Given the description of an element on the screen output the (x, y) to click on. 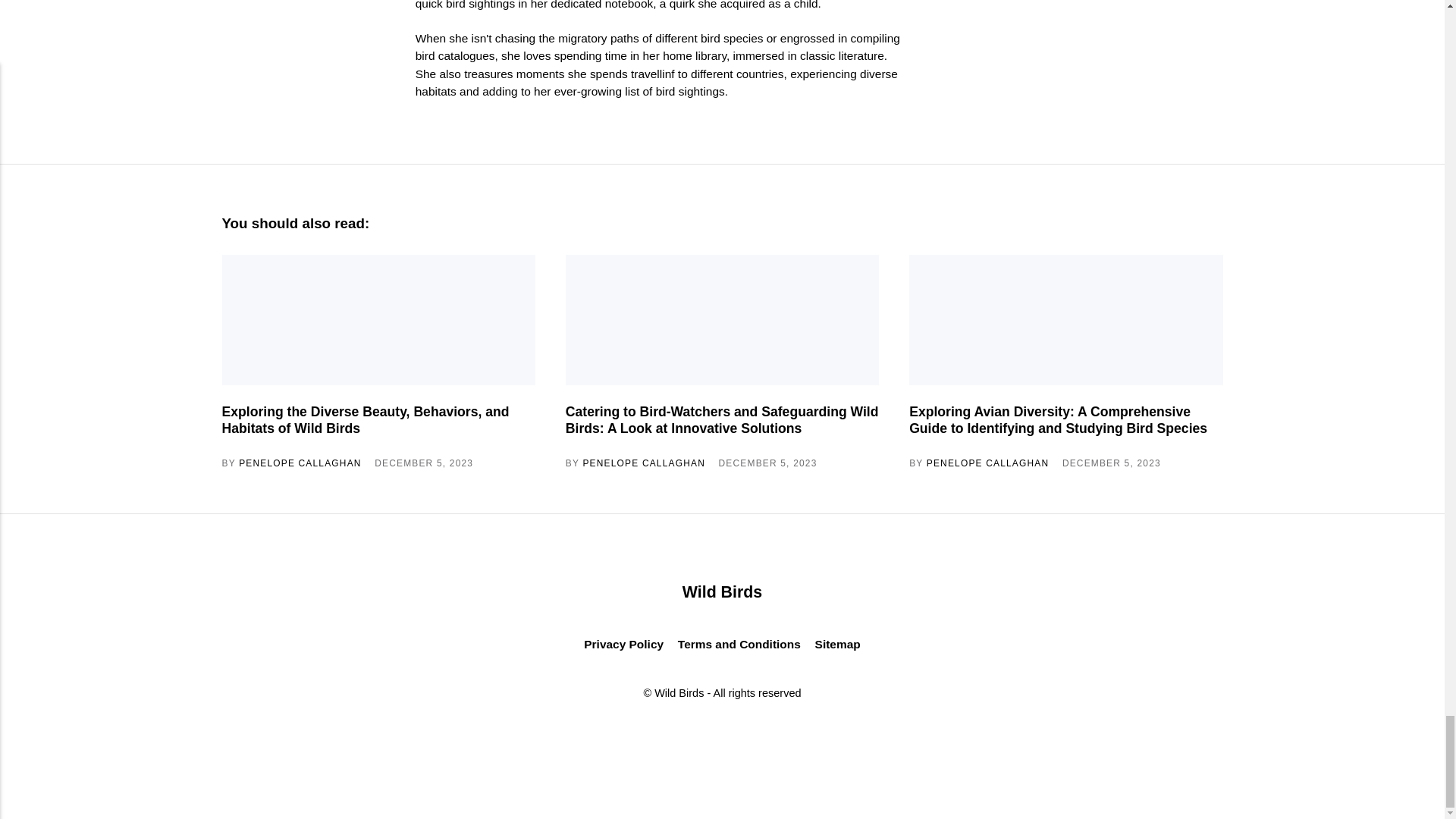
PENELOPE CALLAGHAN (299, 462)
PENELOPE CALLAGHAN (643, 462)
PENELOPE CALLAGHAN (987, 462)
